Given the description of an element on the screen output the (x, y) to click on. 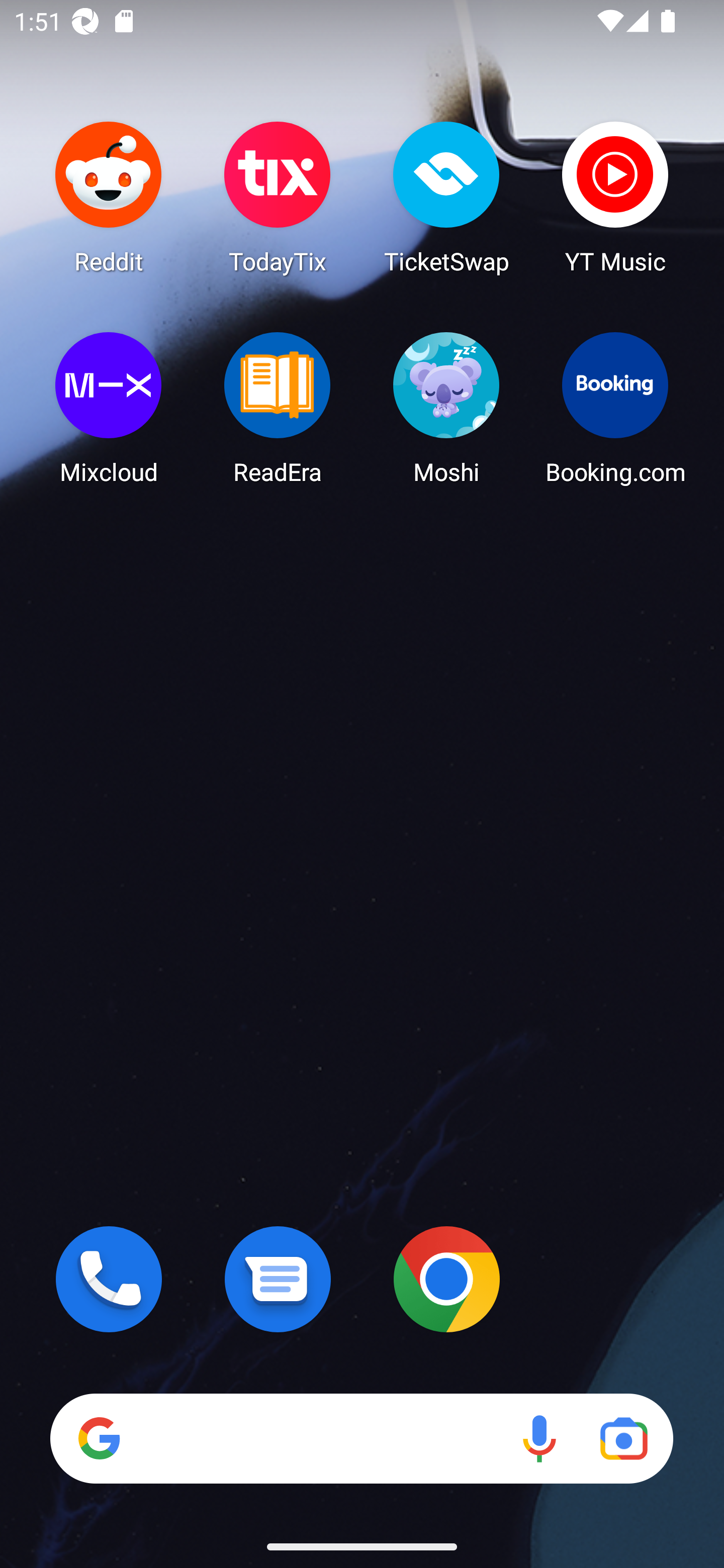
Reddit (108, 196)
TodayTix (277, 196)
TicketSwap (445, 196)
YT Music (615, 196)
Mixcloud (108, 407)
ReadEra (277, 407)
Moshi (445, 407)
Booking.com (615, 407)
Phone (108, 1279)
Messages (277, 1279)
Chrome (446, 1279)
Search Voice search Google Lens (361, 1438)
Voice search (539, 1438)
Google Lens (623, 1438)
